Given the description of an element on the screen output the (x, y) to click on. 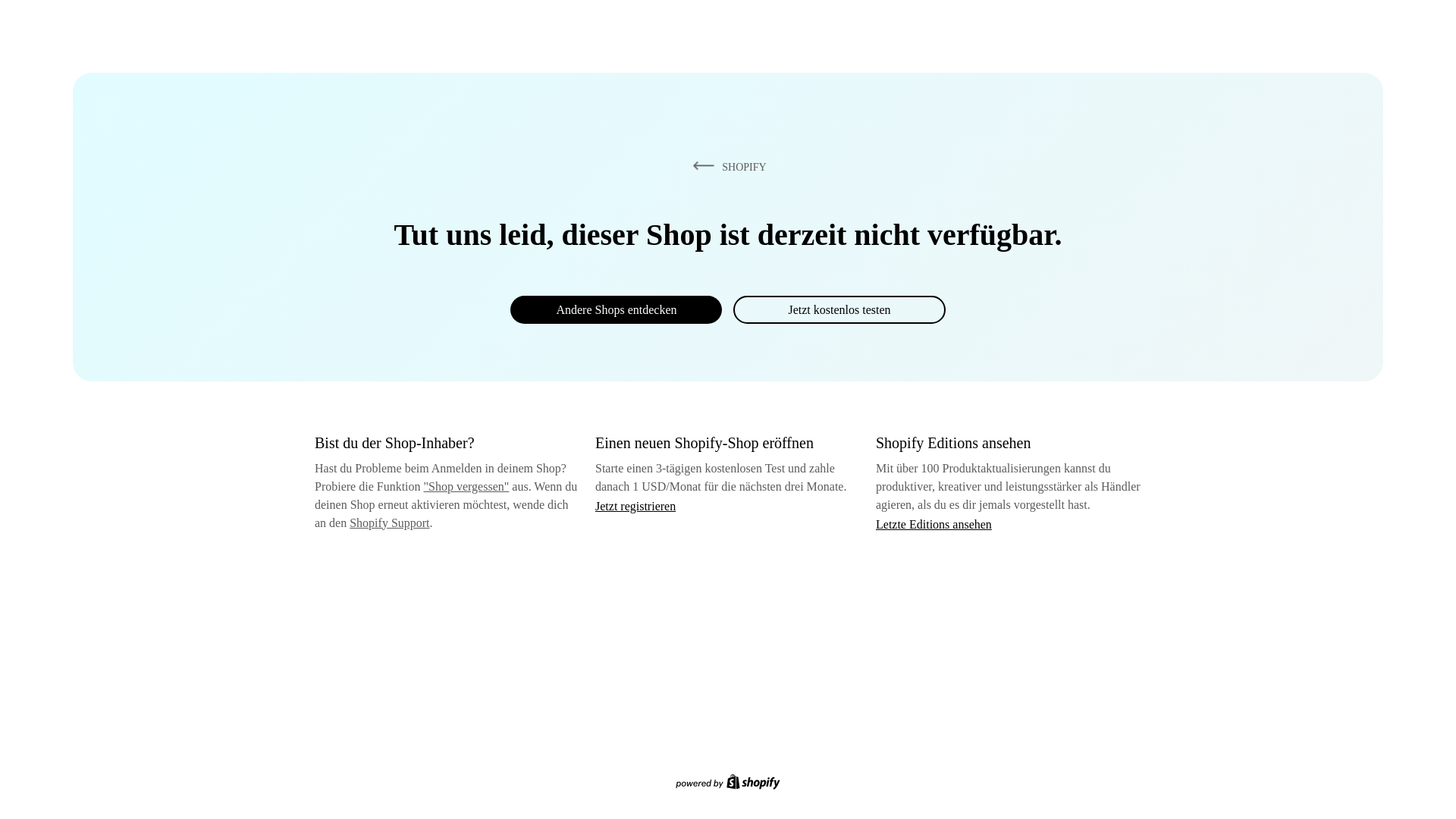
SHOPIFY (726, 166)
Letzte Editions ansehen (933, 523)
Jetzt registrieren (635, 505)
Shopify Support (389, 522)
Jetzt kostenlos testen (838, 309)
"Shop vergessen" (466, 486)
Andere Shops entdecken (616, 309)
